Given the description of an element on the screen output the (x, y) to click on. 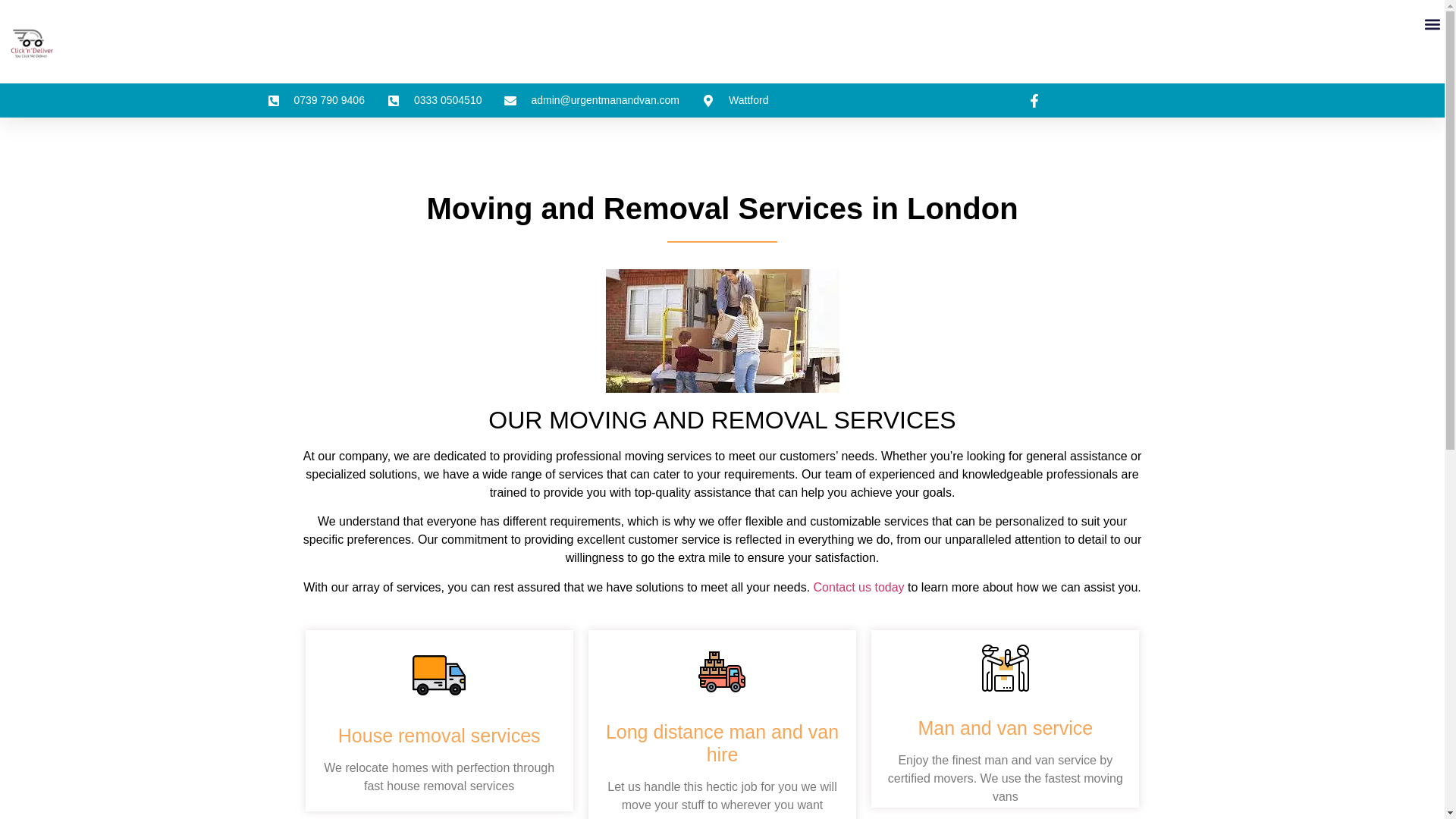
Man and van service (1005, 727)
OUR MOVING AND REMOVAL SERVICES (721, 420)
Moving and Removal Services in London (721, 208)
House removal services (438, 735)
Long distance man and van hire (721, 742)
Contact us today (858, 586)
